Given the description of an element on the screen output the (x, y) to click on. 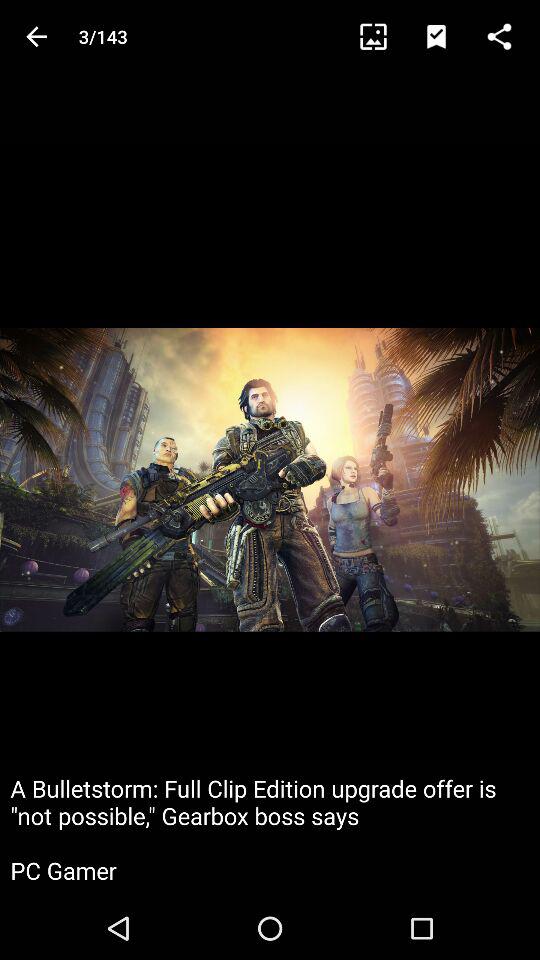
jump until a bulletstorm full item (270, 828)
